Given the description of an element on the screen output the (x, y) to click on. 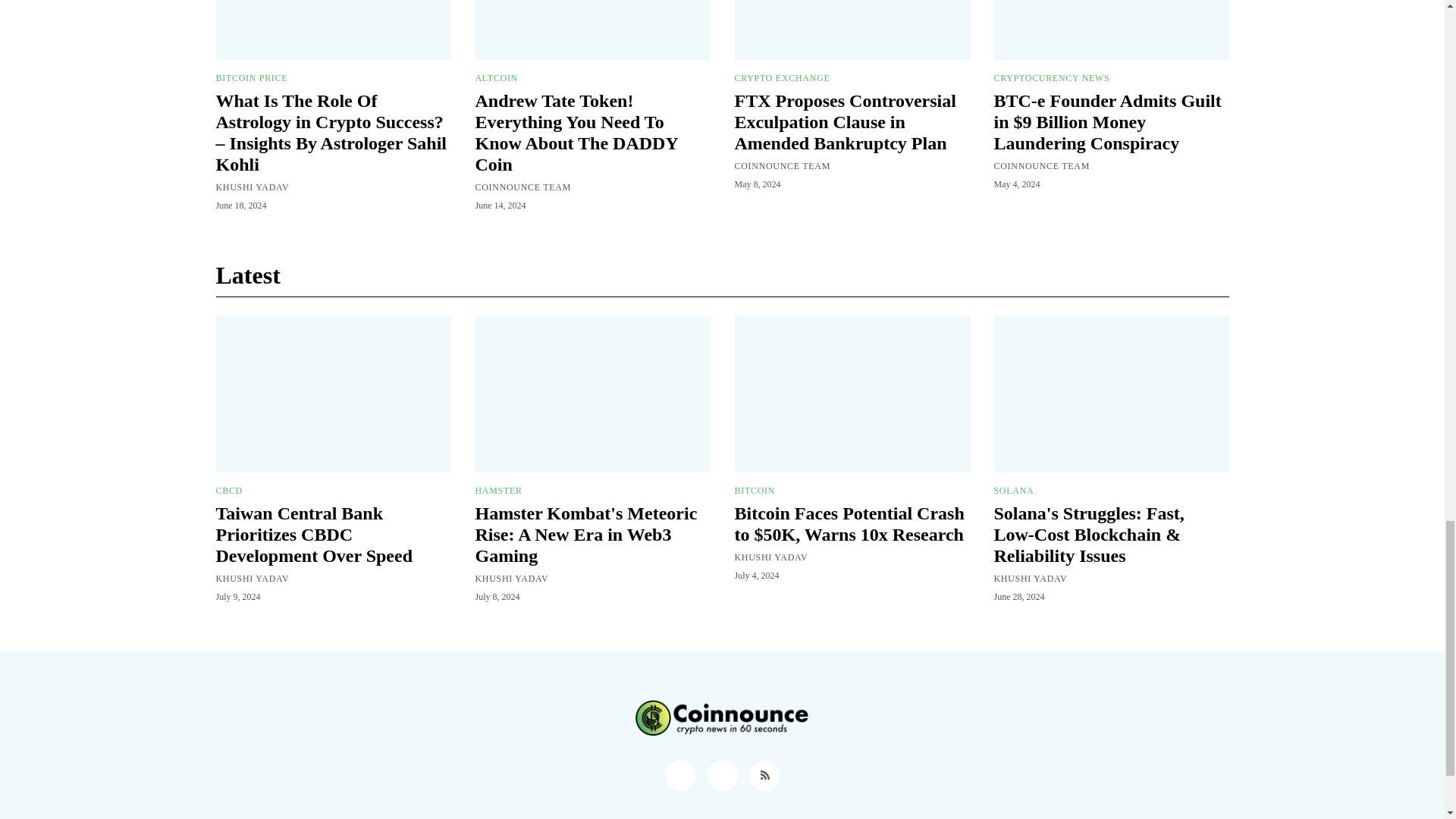
CRYPTOCURENCY NEWS (1050, 77)
CRYPTO EXCHANGE (781, 77)
COINNOUNCE TEAM (781, 165)
KHUSHI YADAV (251, 186)
COINNOUNCE TEAM (522, 186)
BITCOIN PRICE (250, 77)
ALTCOIN (495, 77)
